Given the description of an element on the screen output the (x, y) to click on. 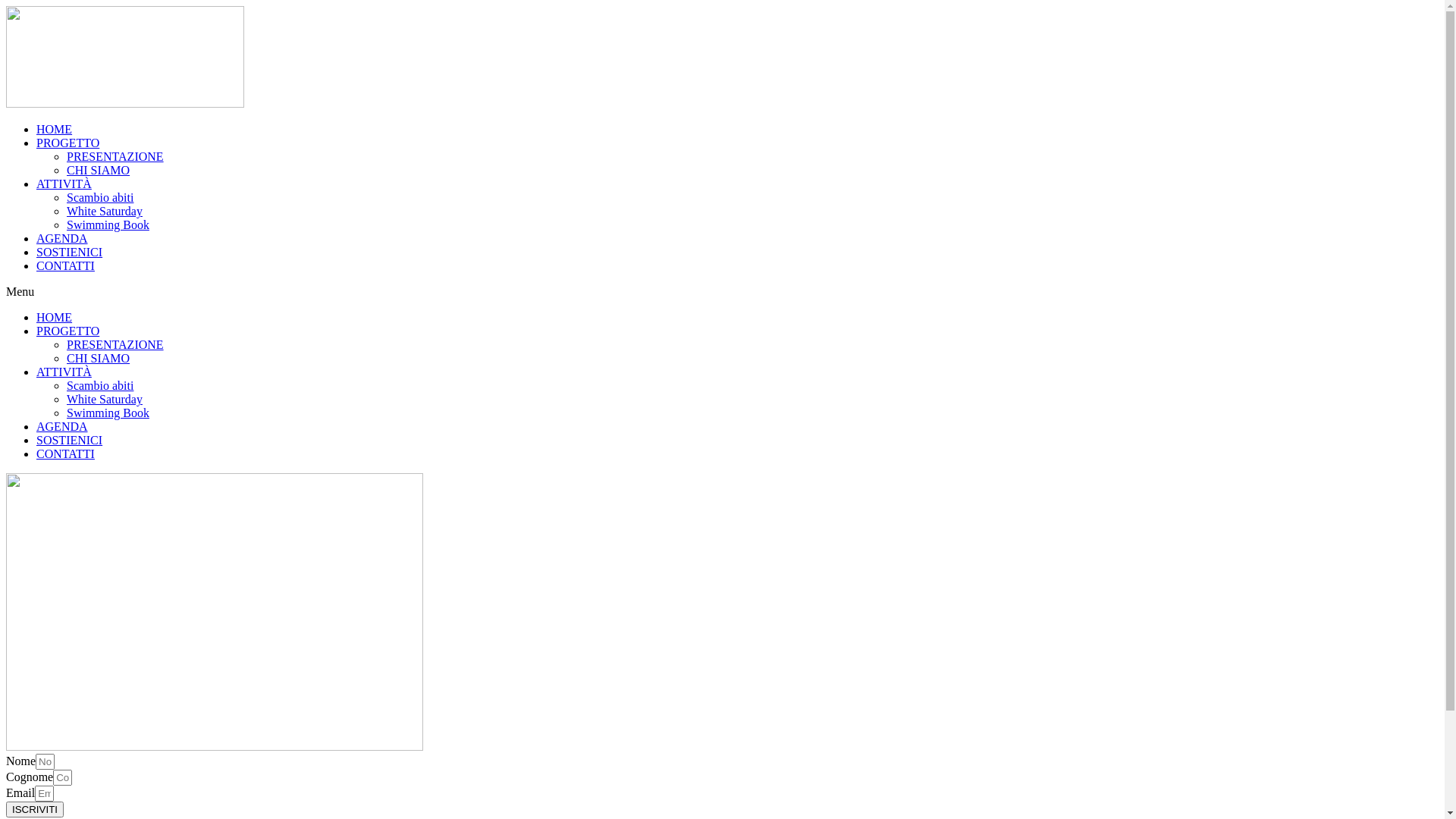
CONTATTI Element type: text (65, 265)
PRESENTAZIONE Element type: text (114, 344)
White Saturday Element type: text (104, 398)
HOME Element type: text (54, 316)
PROGETTO Element type: text (67, 142)
AGENDA Element type: text (61, 238)
SOSTIENICI Element type: text (69, 439)
PROGETTO Element type: text (67, 330)
CONTATTI Element type: text (65, 453)
HOME Element type: text (54, 128)
CHI SIAMO Element type: text (97, 169)
SOSTIENICI Element type: text (69, 251)
Scambio abiti Element type: text (99, 197)
PRESENTAZIONE Element type: text (114, 156)
Swimming Book Element type: text (107, 412)
White Saturday Element type: text (104, 210)
CHI SIAMO Element type: text (97, 357)
ISCRIVITI Element type: text (34, 809)
Scambio abiti Element type: text (99, 385)
Swimming Book Element type: text (107, 224)
AGENDA Element type: text (61, 426)
